Given the description of an element on the screen output the (x, y) to click on. 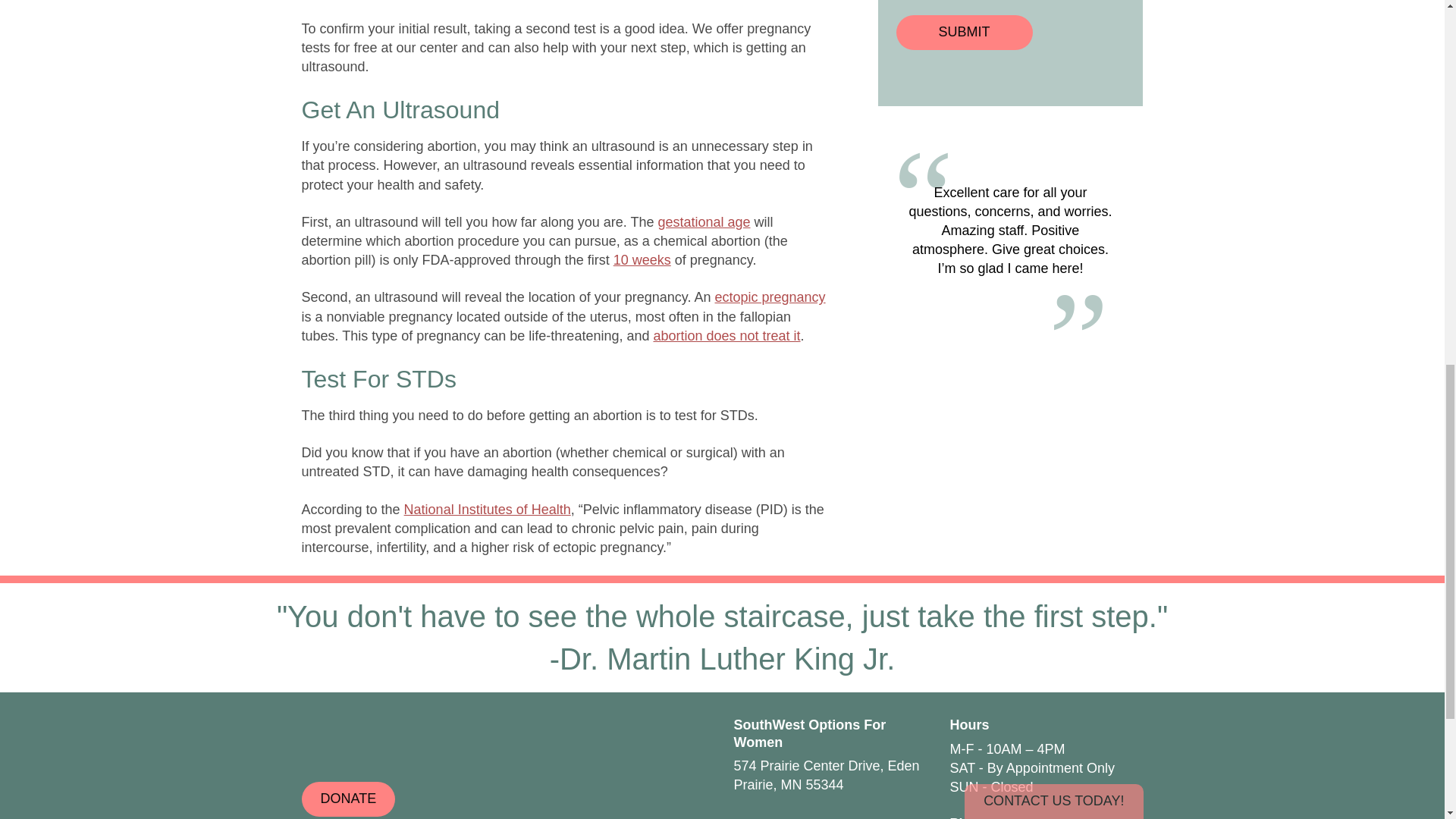
National Institutes of Health (487, 509)
Submit (964, 32)
ectopic pregnancy (769, 296)
DONATE (348, 799)
abortion does not treat it (725, 335)
Submit (964, 32)
10 weeks (641, 259)
gestational age (703, 222)
